Given the description of an element on the screen output the (x, y) to click on. 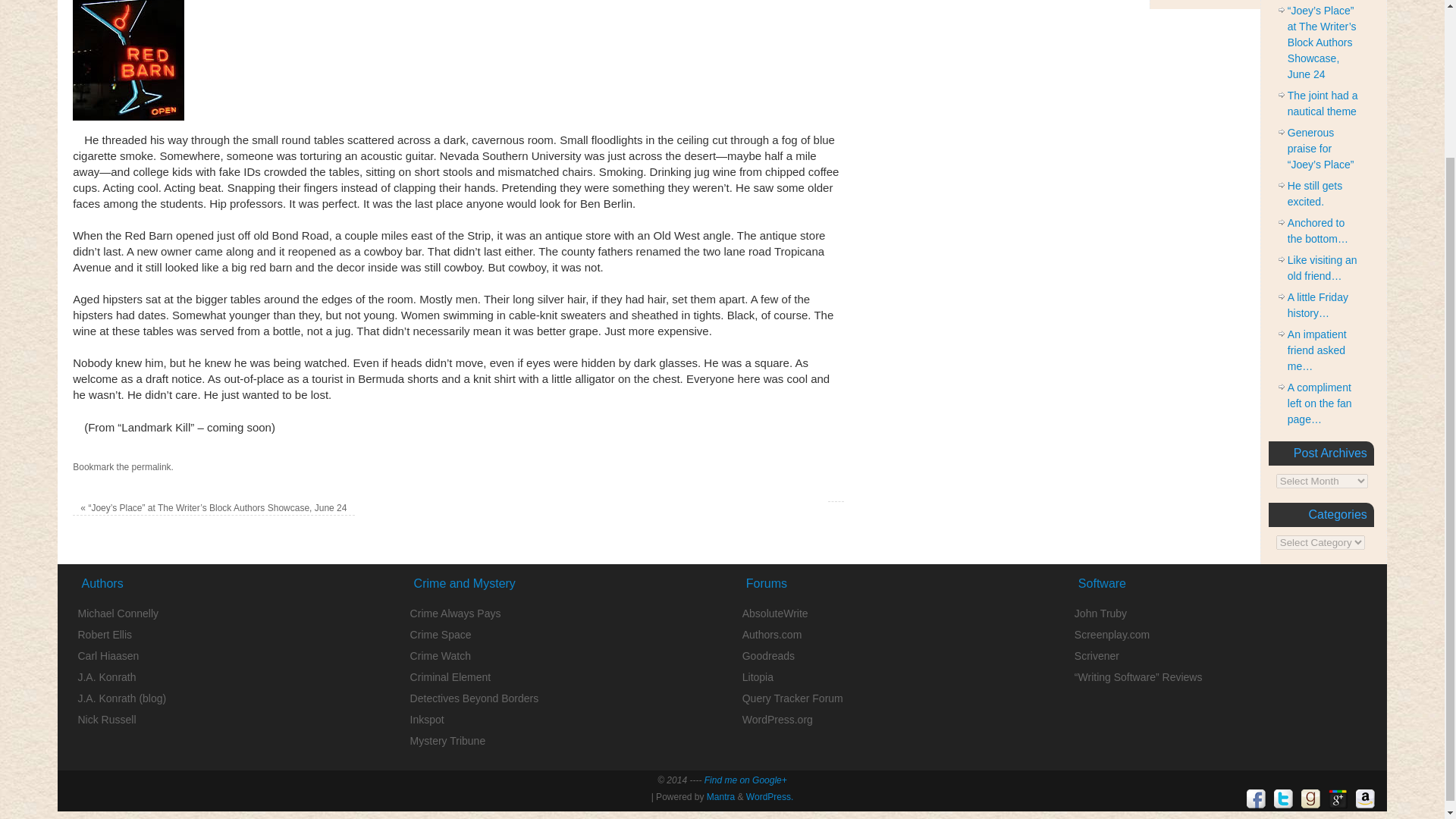
Criminal Element (451, 676)
Facebook (1256, 799)
J.A. Konrath (106, 676)
Crime Watch (440, 655)
Detectives Beyond Borders (474, 698)
Robert Ellis (104, 634)
Carl Hiaasen (107, 655)
Crime Space (440, 634)
Semantic Personal Publishing Platform (769, 796)
Inkspot (427, 719)
Michael Connelly (117, 613)
Twitter (1284, 799)
Mantra Theme by Cryout Creations (720, 796)
Nick Russell (106, 719)
The joint had a nautical theme (1322, 103)
